Given the description of an element on the screen output the (x, y) to click on. 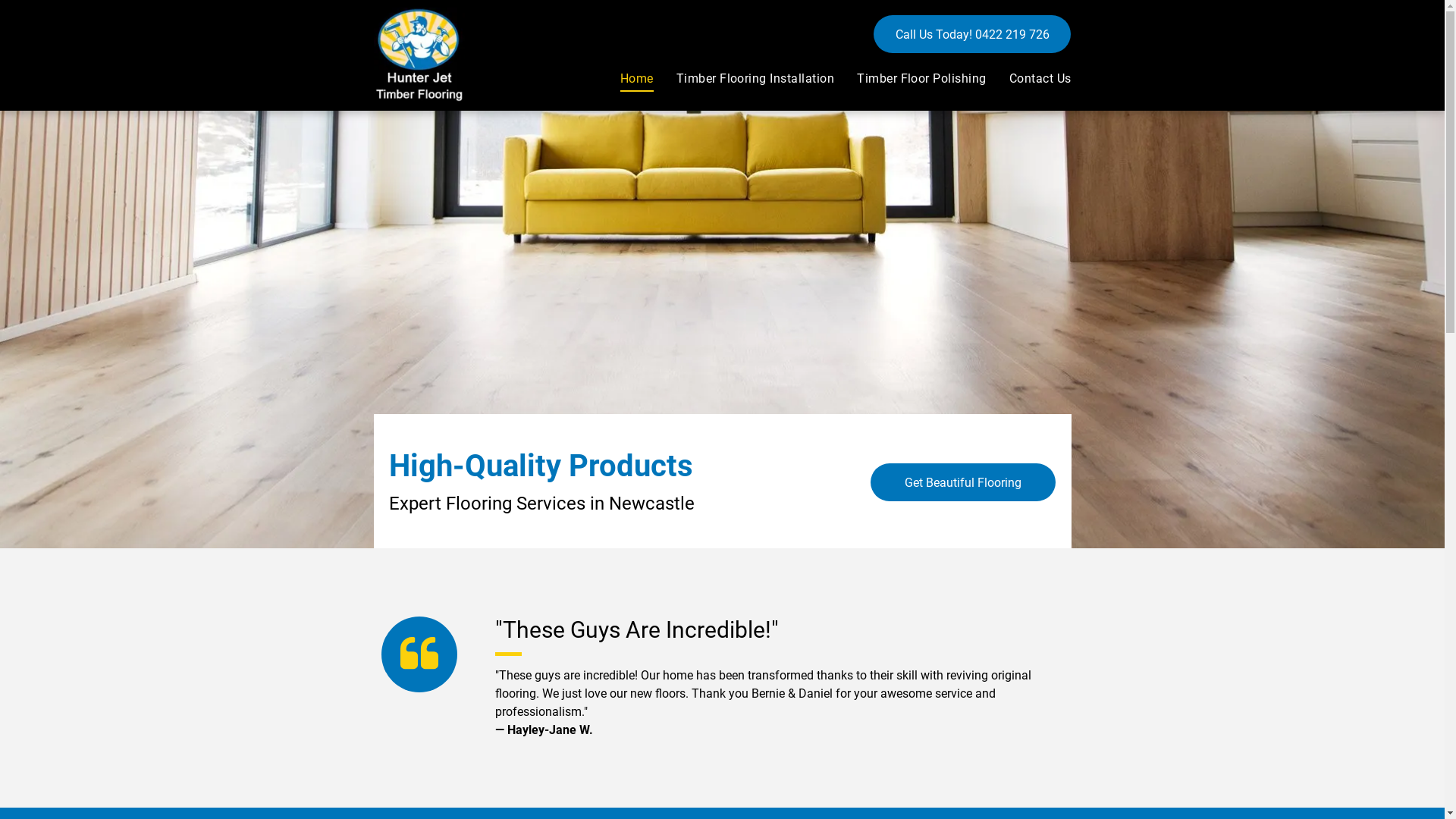
Timber Floor Polishing Element type: text (910, 78)
Get Beautiful Flooring Element type: text (962, 482)
Home Element type: text (625, 78)
Contact Us Element type: text (1028, 78)
Call Us Today! 0422 219 726 Element type: text (972, 34)
Timber Flooring Installation Element type: text (743, 78)
